Given the description of an element on the screen output the (x, y) to click on. 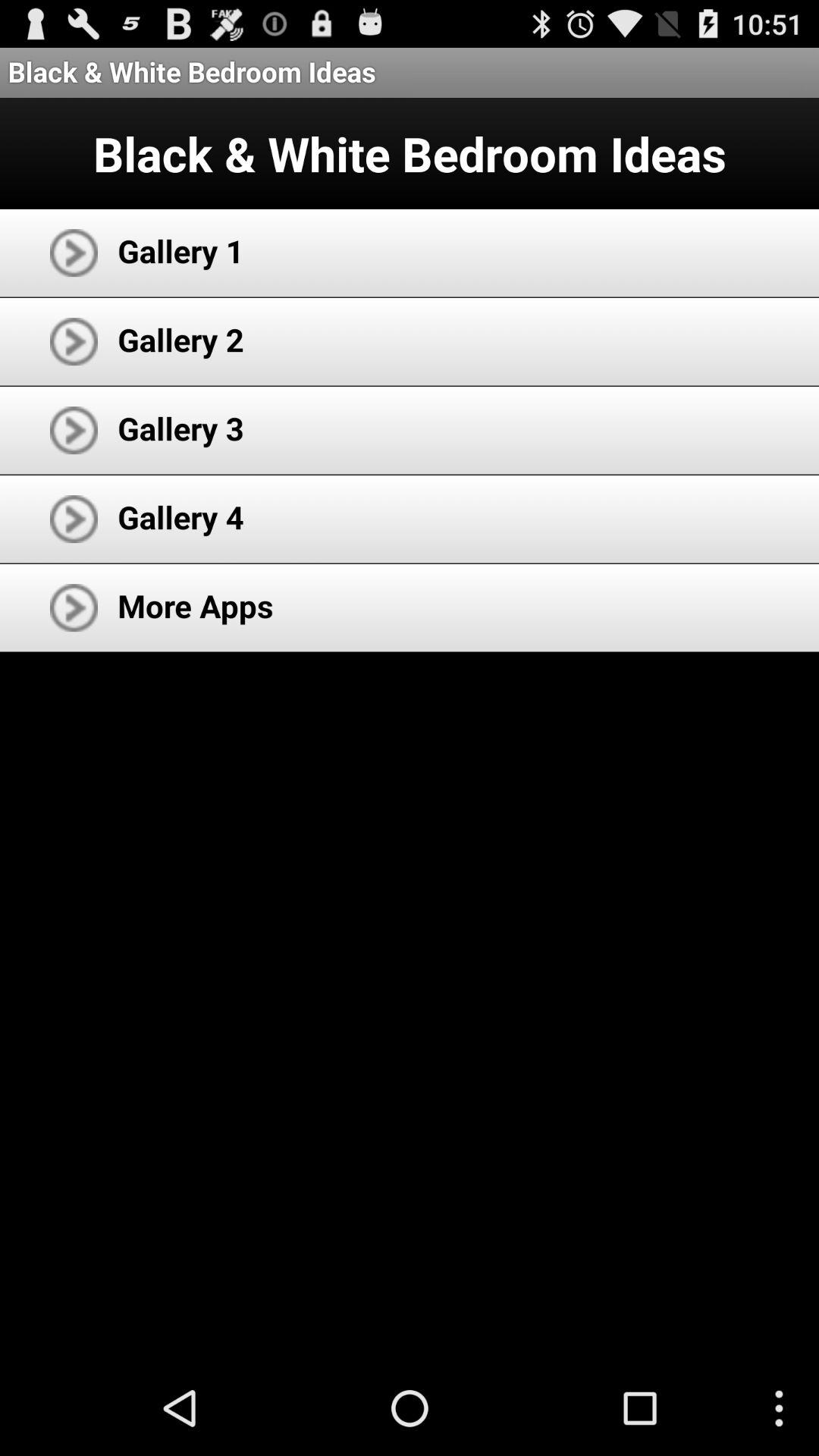
scroll until the more apps app (195, 605)
